Given the description of an element on the screen output the (x, y) to click on. 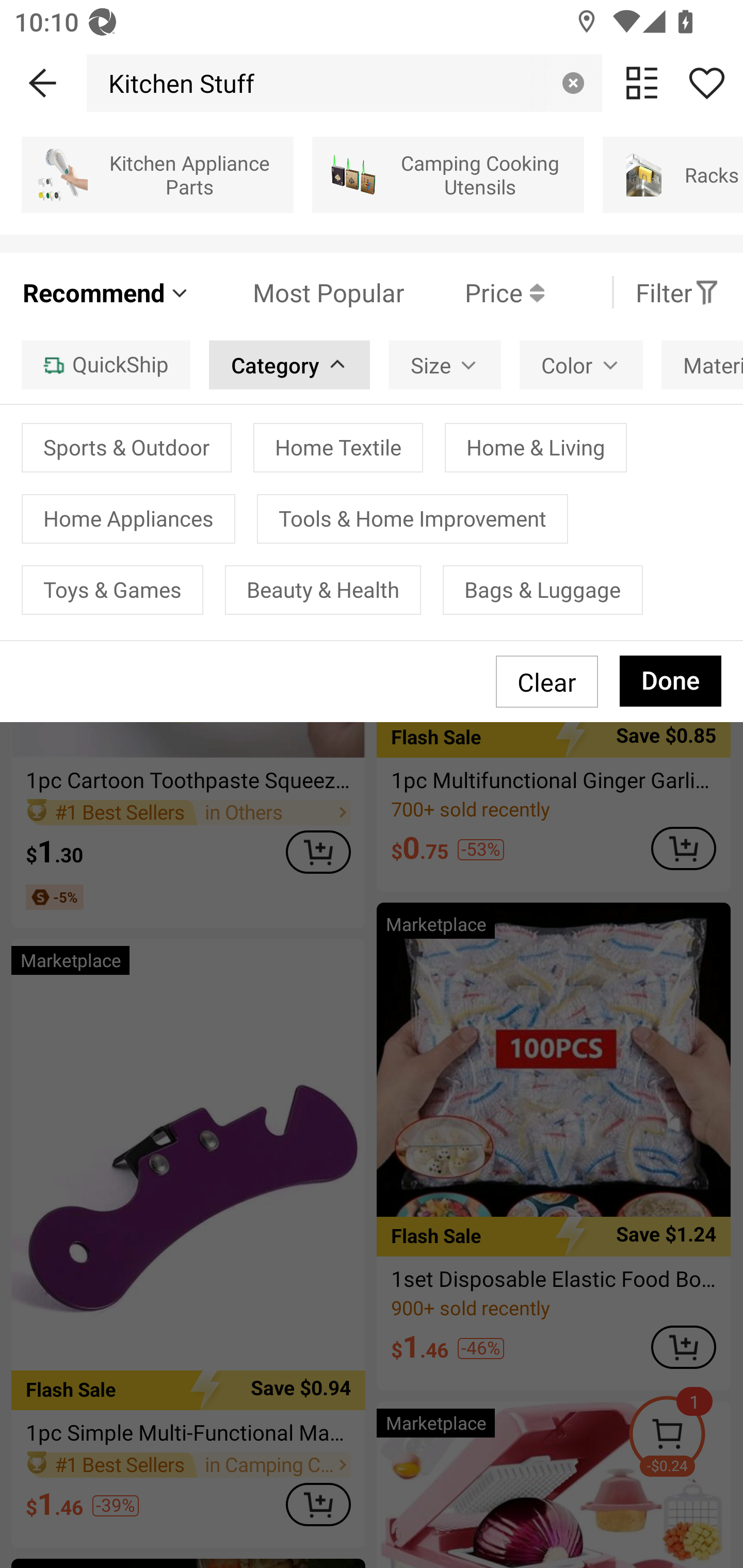
Kitchen Stuff (175, 82)
Clear (572, 82)
change view (641, 82)
Share (706, 82)
Kitchen Appliance Parts (157, 174)
Camping Cooking Utensils (447, 174)
Racks & Holders (672, 174)
Recommend (106, 292)
Most Popular (297, 292)
Price (474, 292)
Filter (677, 292)
QuickShip (105, 364)
Category (289, 364)
Size (444, 364)
Color (580, 364)
Material (702, 364)
